Given the description of an element on the screen output the (x, y) to click on. 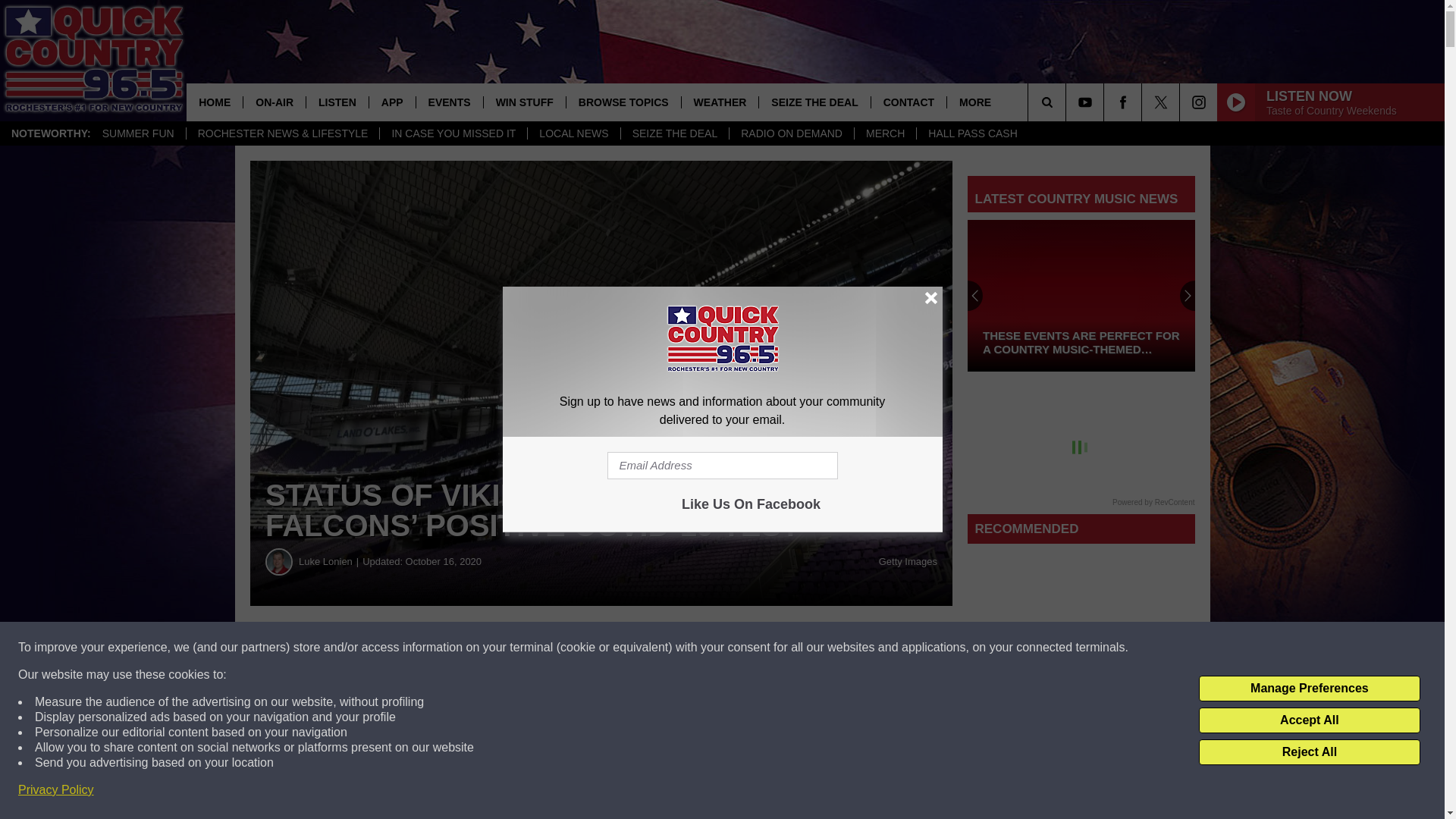
RADIO ON DEMAND (791, 133)
Manage Preferences (1309, 688)
SUMMER FUN (138, 133)
Accept All (1309, 720)
LOCAL NEWS (573, 133)
SEIZE THE DEAL (674, 133)
ON-AIR (274, 102)
Email Address (722, 465)
Reject All (1309, 751)
SEARCH (1068, 102)
Privacy Policy (55, 789)
SEARCH (1068, 102)
Share on Facebook (460, 647)
HALL PASS CASH (972, 133)
LISTEN (336, 102)
